Given the description of an element on the screen output the (x, y) to click on. 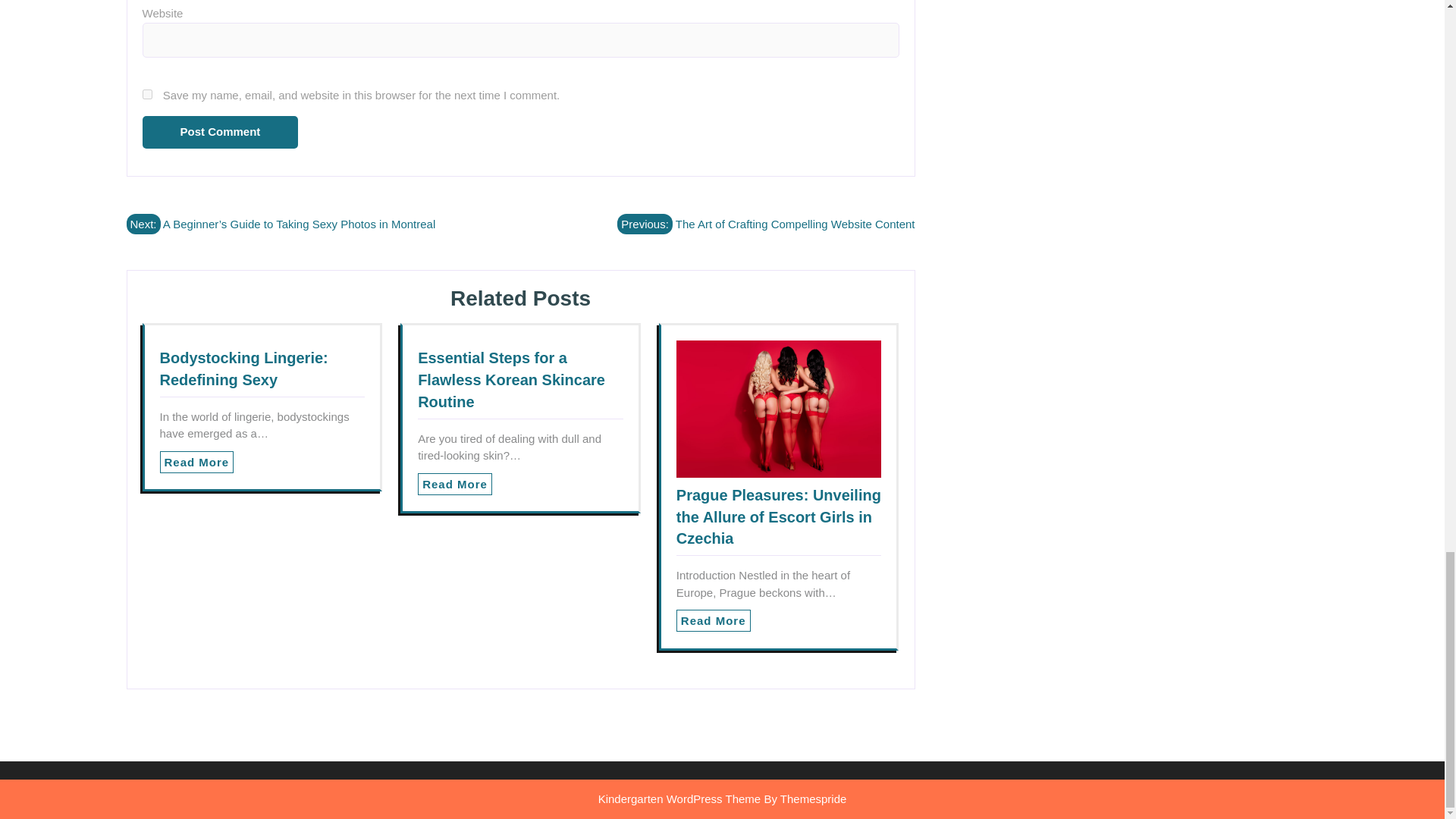
Read More (454, 484)
yes (147, 94)
Post Comment (220, 132)
Read More (714, 620)
Bodystocking Lingerie: Redefining Sexy (242, 368)
Previous: The Art of Crafting Compelling Website Content (765, 223)
Read More (454, 484)
Essential Steps for a Flawless Korean Skincare Routine (511, 379)
Read More (195, 462)
Essential Steps for a Flawless Korean Skincare Routine (511, 379)
Read More (714, 620)
Read More (195, 462)
Post Comment (220, 132)
